Given the description of an element on the screen output the (x, y) to click on. 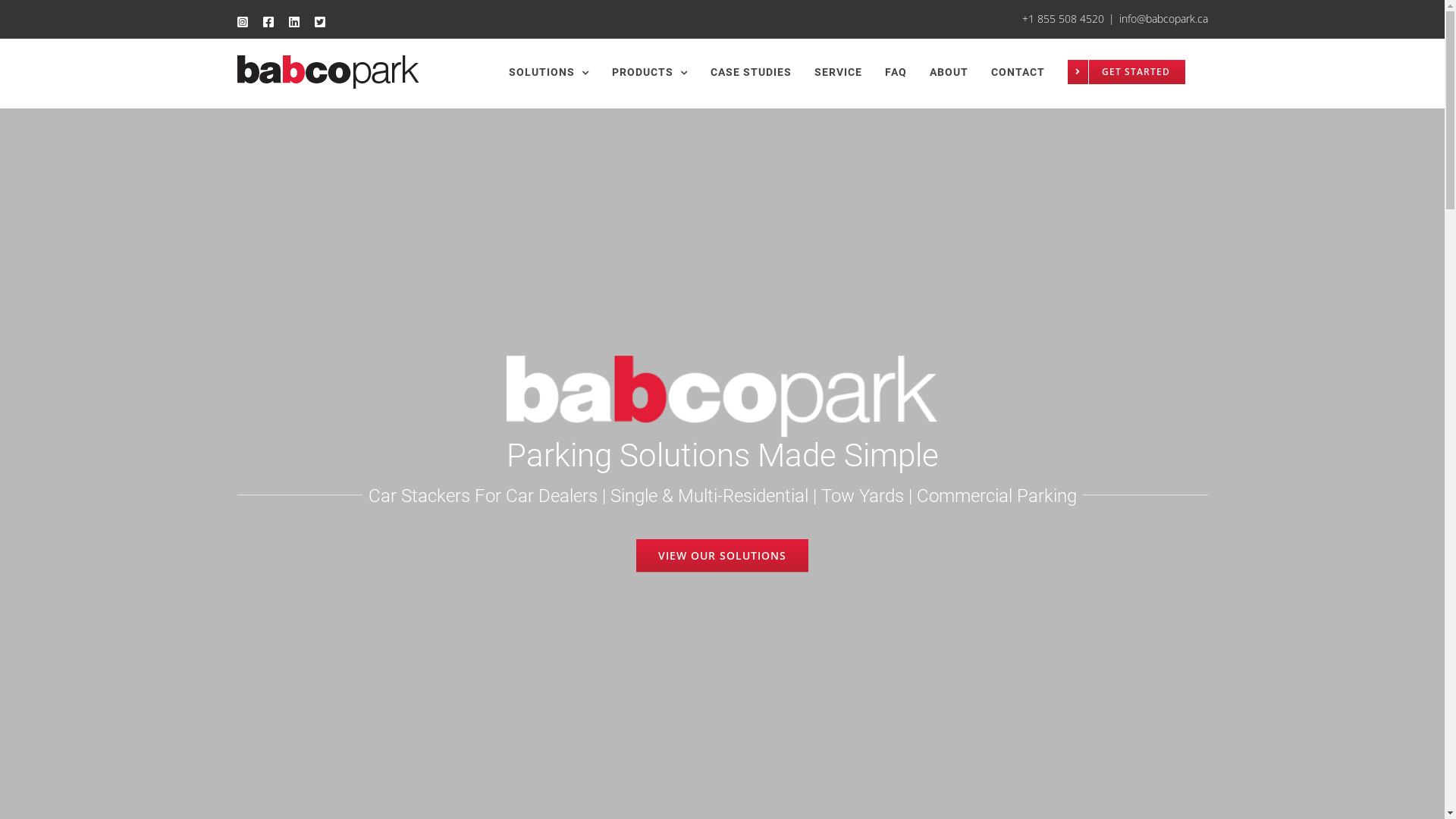
VIEW OUR SOLUTIONS Element type: text (722, 555)
CASE STUDIES Element type: text (749, 71)
SOLUTIONS Element type: text (548, 71)
ABOUT Element type: text (948, 71)
Twitter Element type: text (318, 21)
FAQ Element type: text (895, 71)
info@babcopark.ca Element type: text (1163, 18)
LinkedIn Element type: text (293, 21)
SERVICE Element type: text (838, 71)
Facebook Element type: text (267, 21)
PRODUCTS Element type: text (649, 71)
CONTACT Element type: text (1017, 71)
GET STARTED Element type: text (1126, 71)
+1 855 508 4520 Element type: text (1063, 18)
Instagram Element type: text (241, 21)
